Given the description of an element on the screen output the (x, y) to click on. 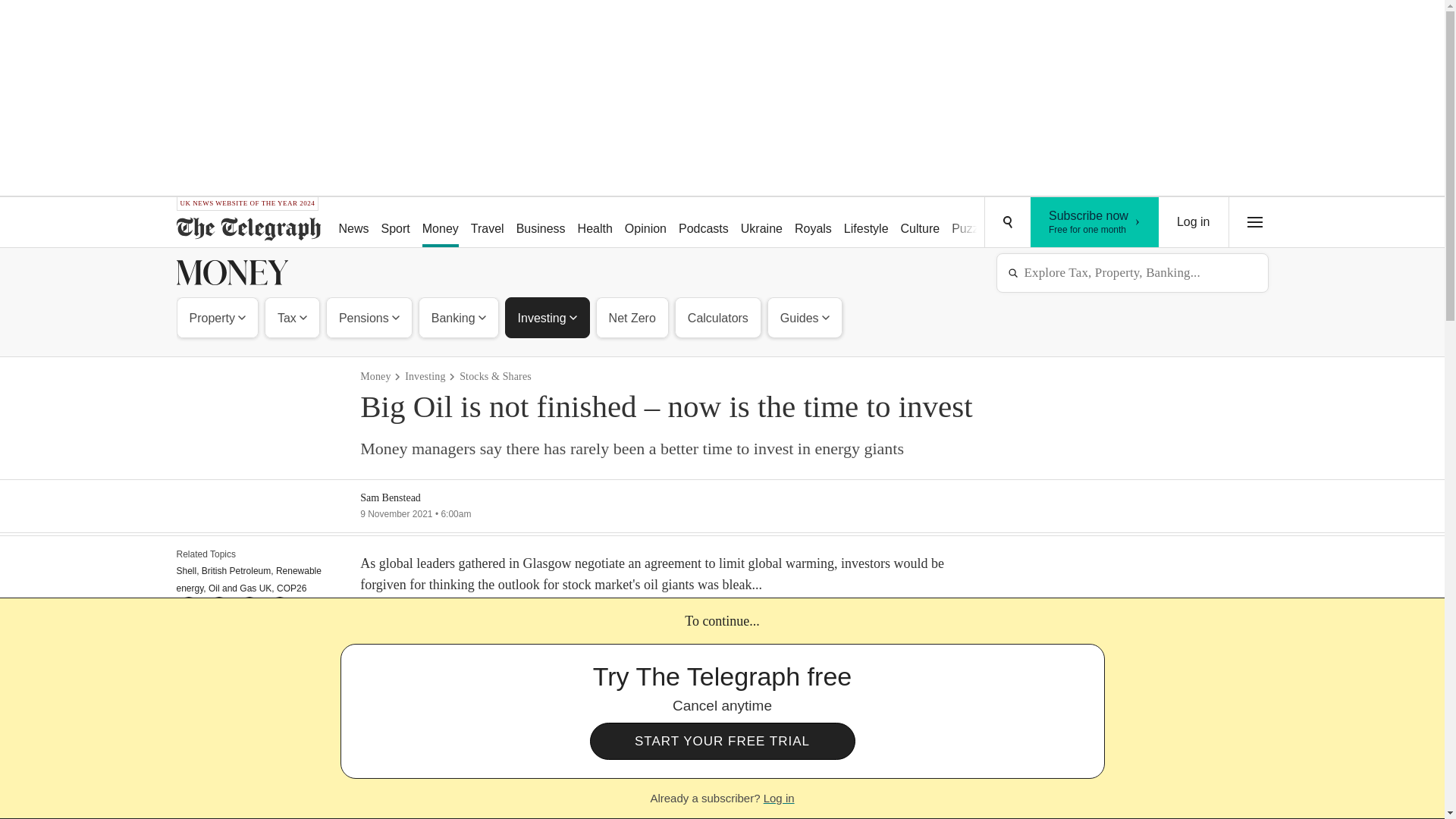
Money (440, 223)
Podcasts (703, 223)
Ukraine (762, 223)
Tax (1094, 222)
Health (291, 317)
Business (595, 223)
Royals (541, 223)
Puzzles (813, 223)
Lifestyle (972, 223)
Log in (866, 223)
Travel (1193, 222)
Property (487, 223)
Opinion (217, 317)
Pensions (645, 223)
